Given the description of an element on the screen output the (x, y) to click on. 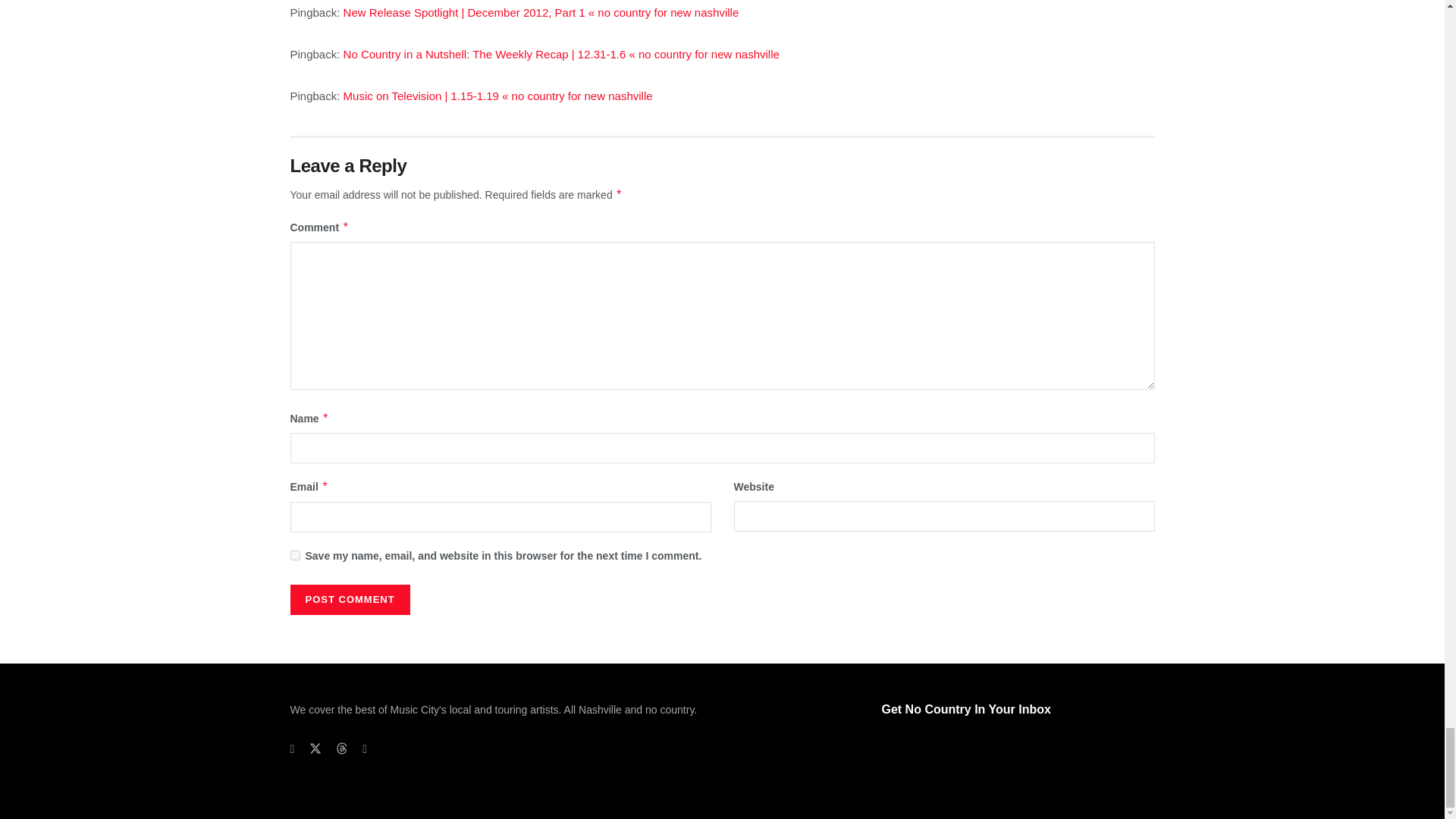
yes (294, 555)
Post Comment (349, 599)
